Given the description of an element on the screen output the (x, y) to click on. 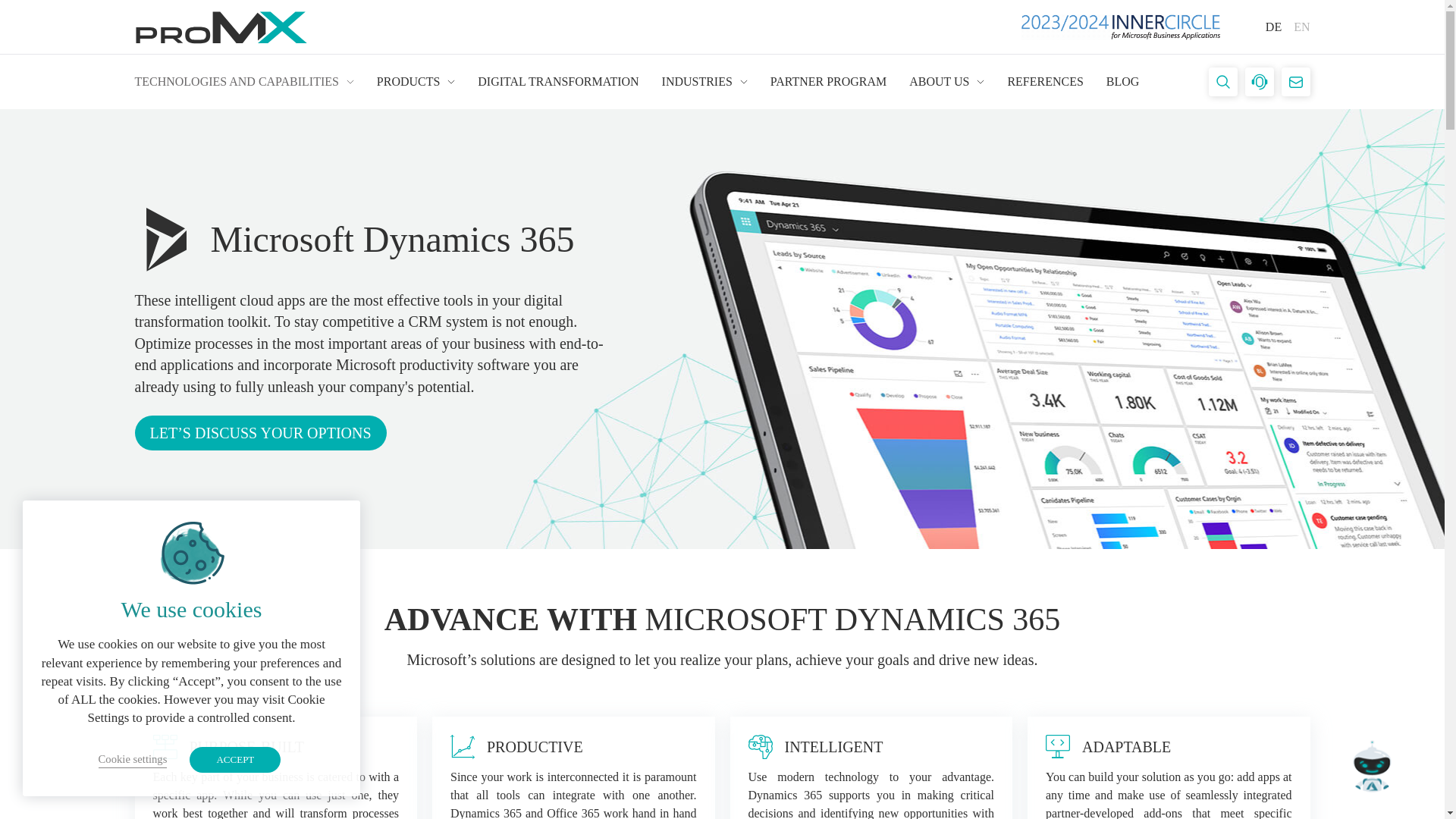
TECHNOLOGIES AND CAPABILITIES (244, 81)
DIGITAL TRANSFORMATION (558, 81)
DE (1273, 27)
PRODUCTS (415, 81)
EN (1301, 27)
